Given the description of an element on the screen output the (x, y) to click on. 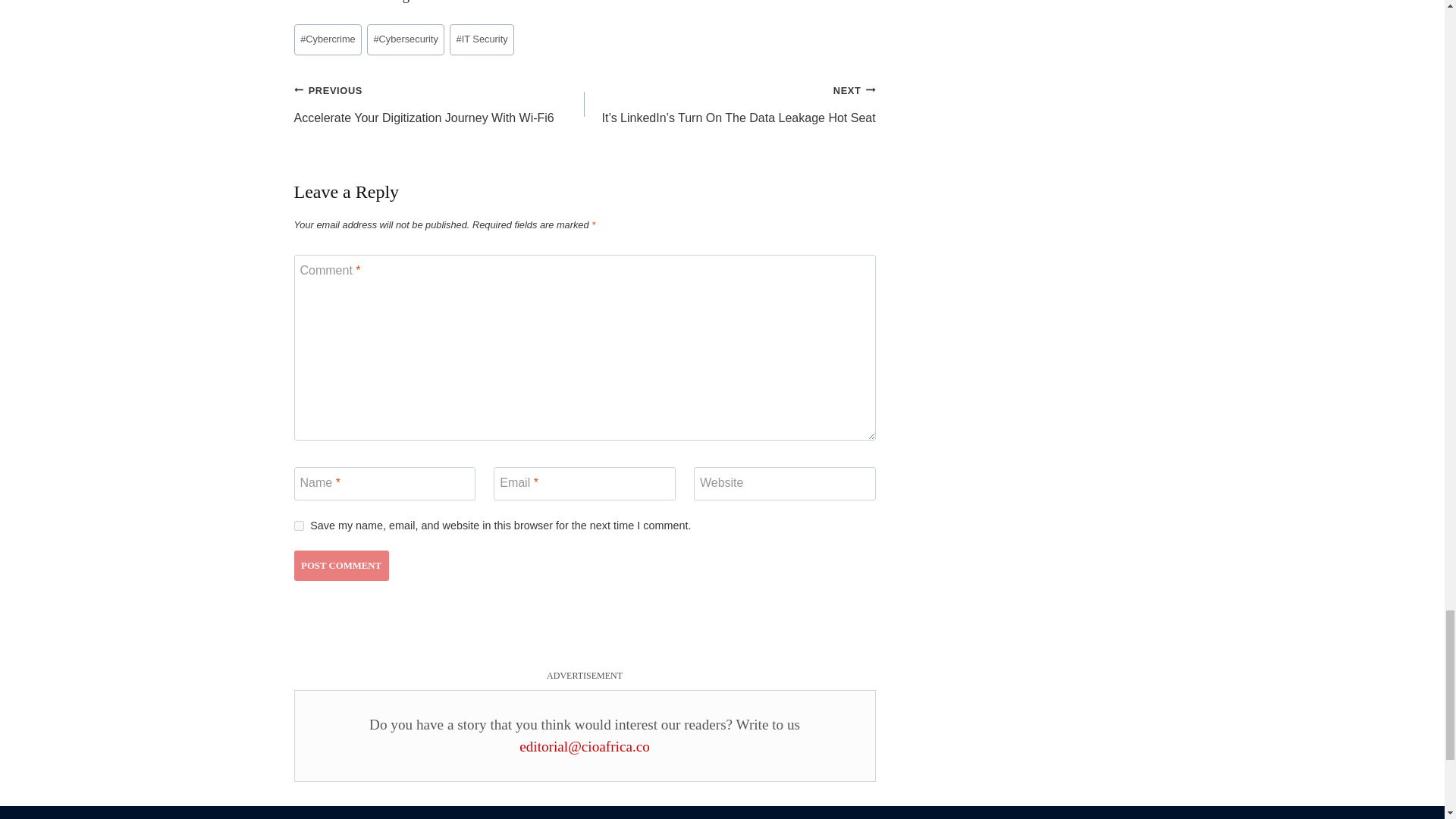
Post Comment (341, 565)
yes (299, 525)
Cybersecurity (405, 39)
Post Comment (341, 565)
Cybercrime (328, 39)
IT Security (439, 104)
